Given the description of an element on the screen output the (x, y) to click on. 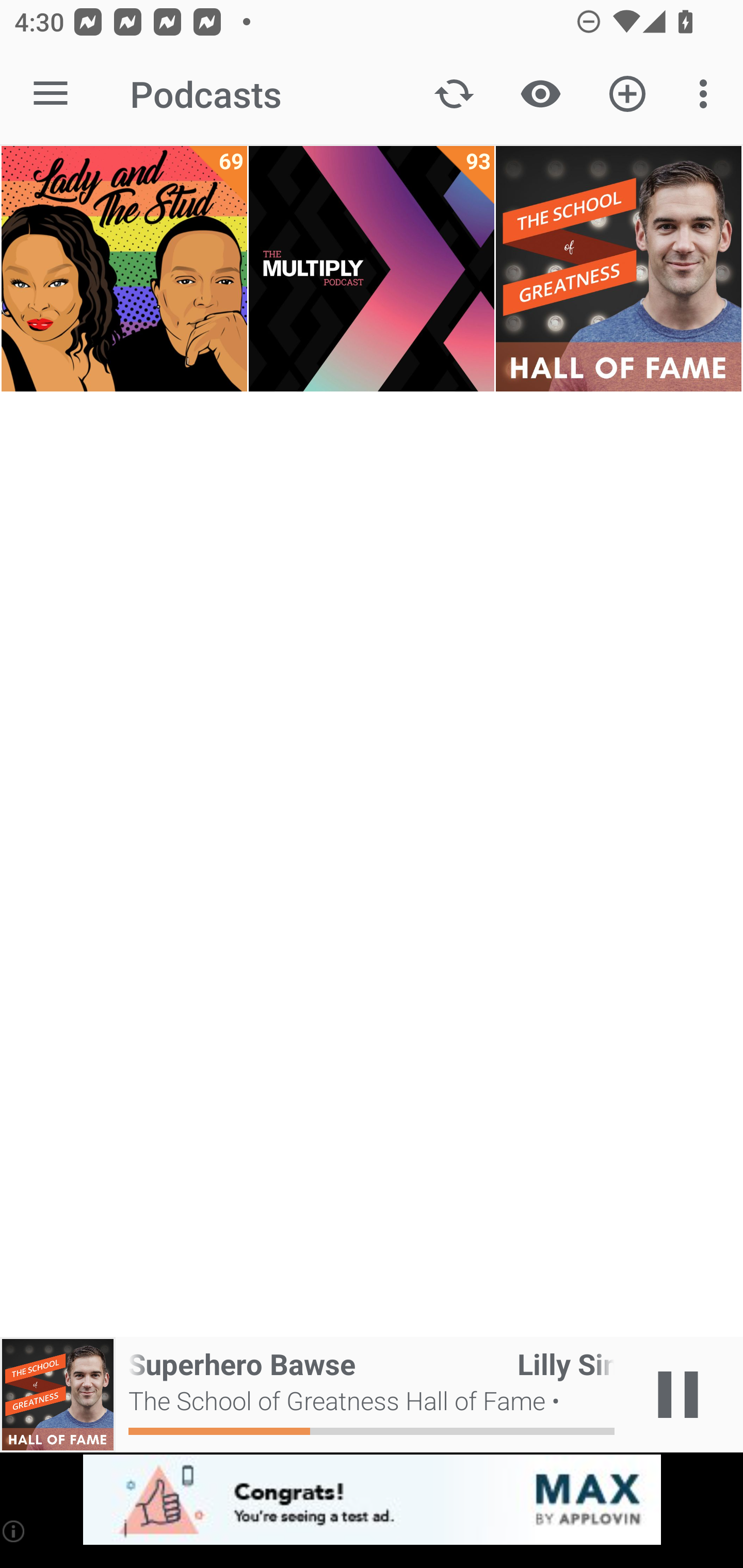
Open navigation sidebar (50, 93)
Update (453, 93)
Show / Hide played content (540, 93)
Add new Podcast (626, 93)
More options (706, 93)
Lady and The Stud 69 (124, 268)
The Multiply Podcast 93 (371, 268)
The School of Greatness Hall of Fame (618, 268)
Play / Pause (677, 1394)
app-monetization (371, 1500)
(i) (14, 1531)
